Given the description of an element on the screen output the (x, y) to click on. 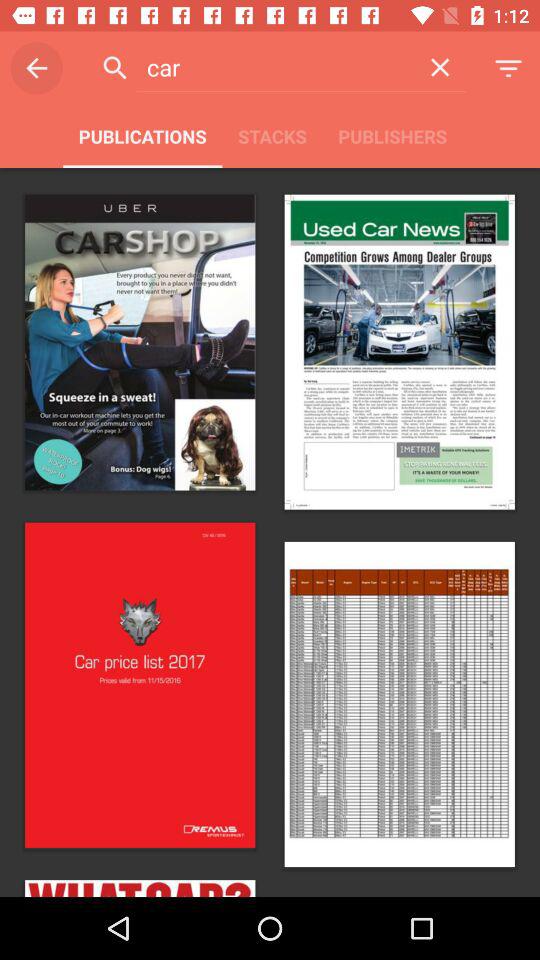
select the search button (116, 67)
select the title of the page (275, 67)
click on the image of car price list 2017 (140, 685)
click on 1st row 2nd column publication (399, 351)
select the first image (139, 342)
select the symbol which is to the immediate right of cross symbol (508, 68)
